Given the description of an element on the screen output the (x, y) to click on. 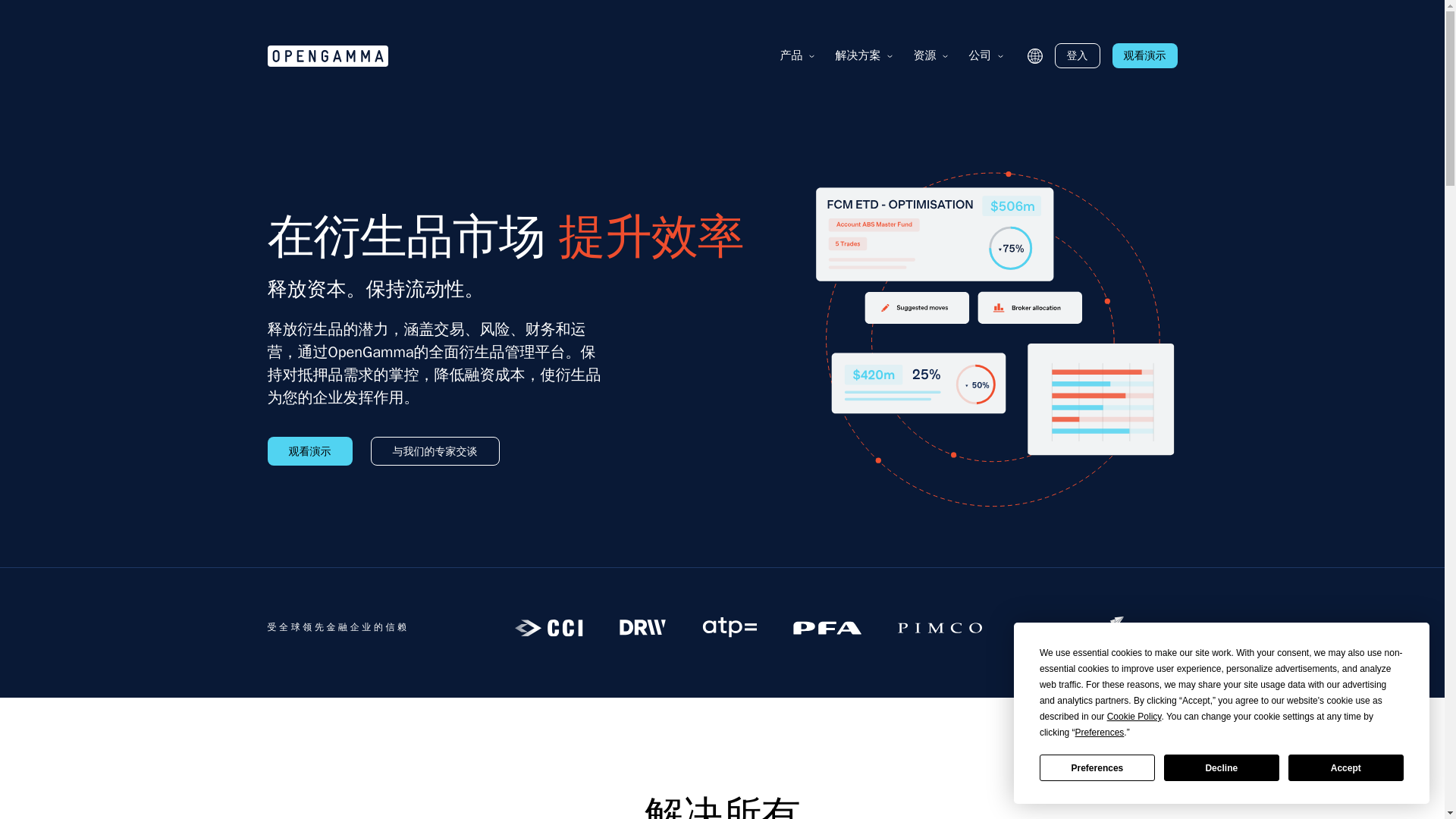
Decline (1221, 767)
Accept (1345, 767)
Preferences (1096, 767)
